Given the description of an element on the screen output the (x, y) to click on. 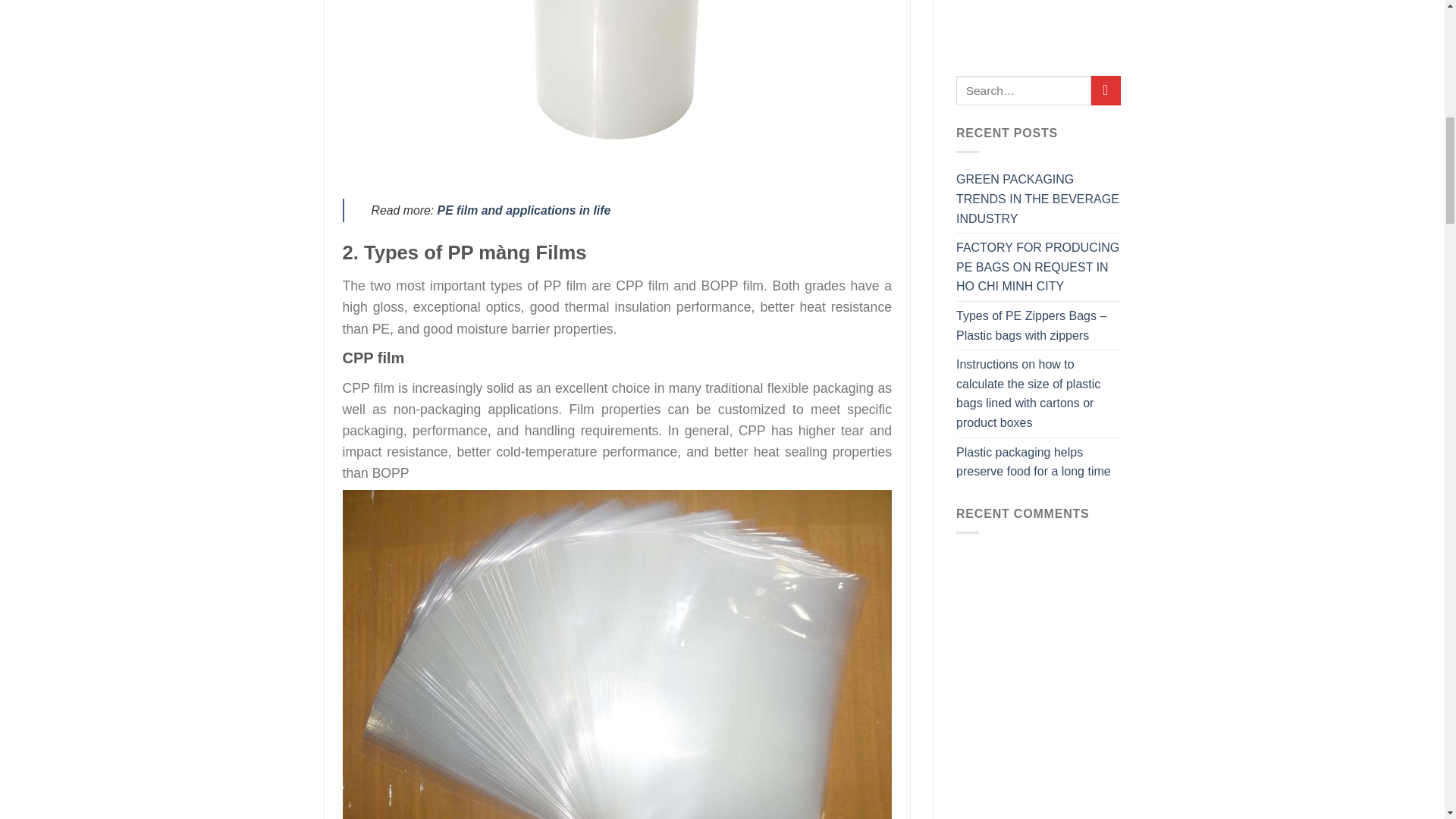
PE film and applications in life (524, 210)
